Given the description of an element on the screen output the (x, y) to click on. 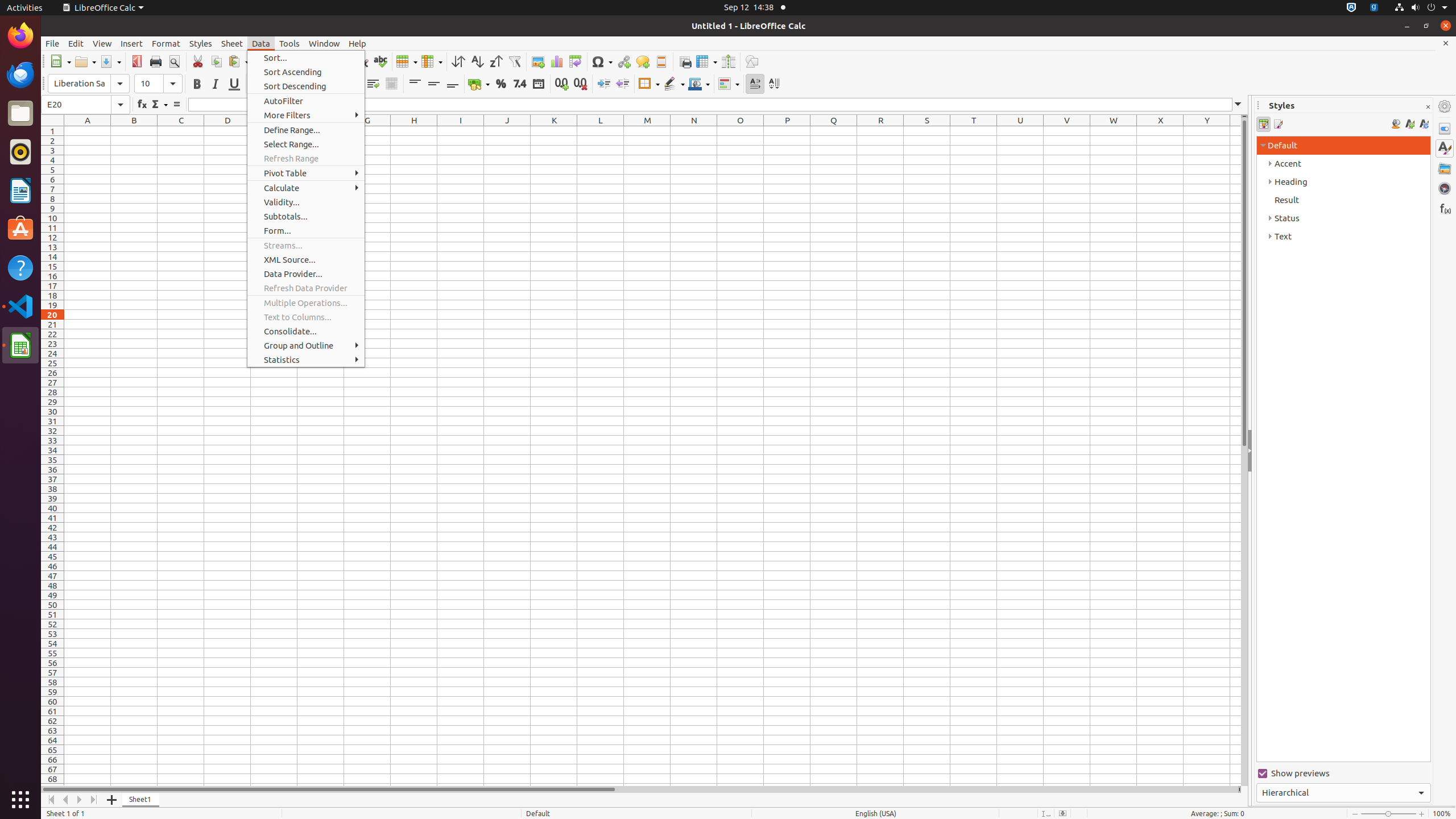
Y1 Element type: table-cell (1206, 130)
Cut Element type: push-button (197, 61)
Print Preview Element type: toggle-button (173, 61)
Headers and Footers Element type: push-button (660, 61)
Align Bottom Element type: push-button (452, 83)
